Given the description of an element on the screen output the (x, y) to click on. 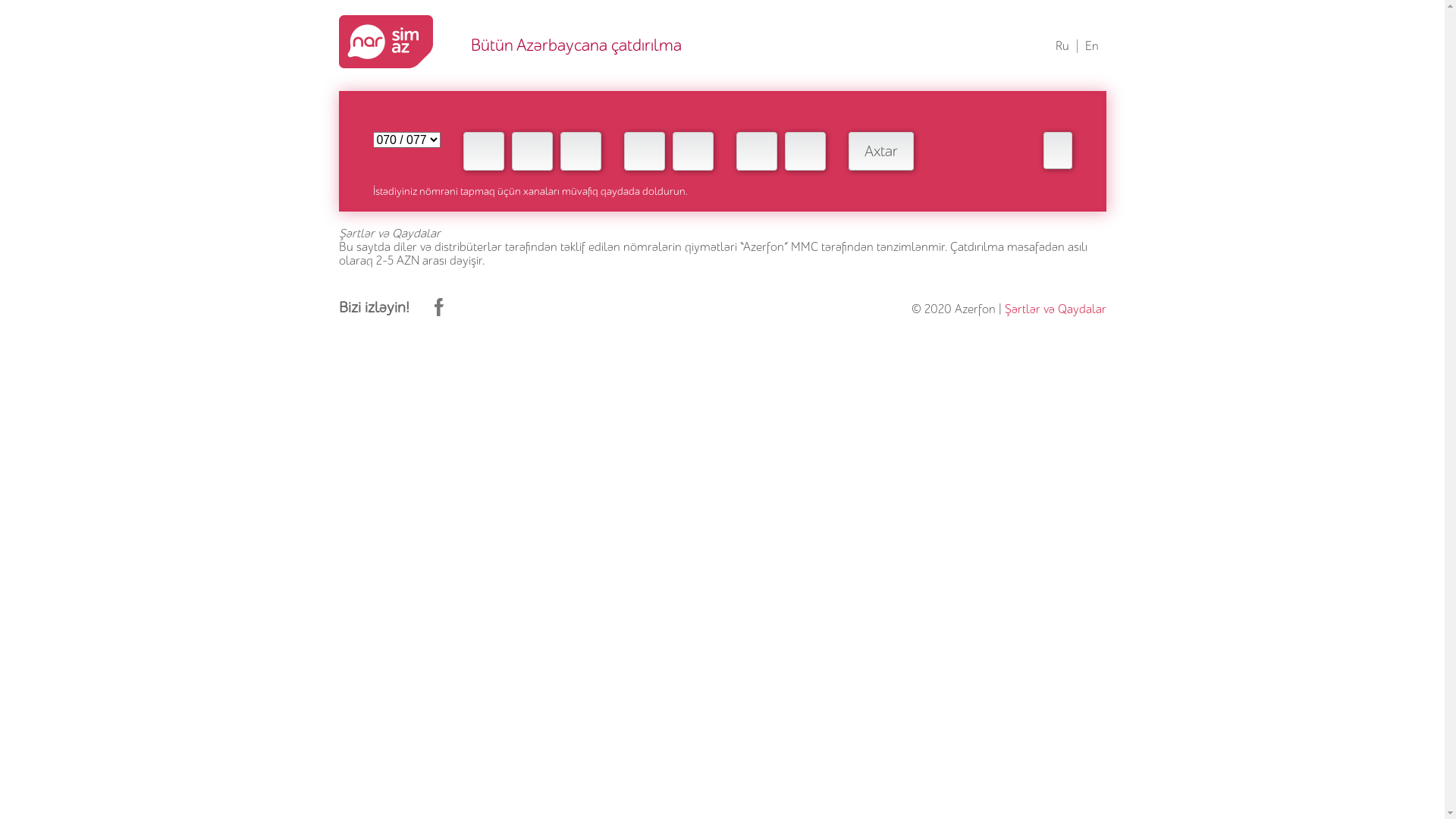
Ru Element type: text (1062, 46)
Axtar Element type: text (880, 150)
En Element type: text (1091, 46)
